Given the description of an element on the screen output the (x, y) to click on. 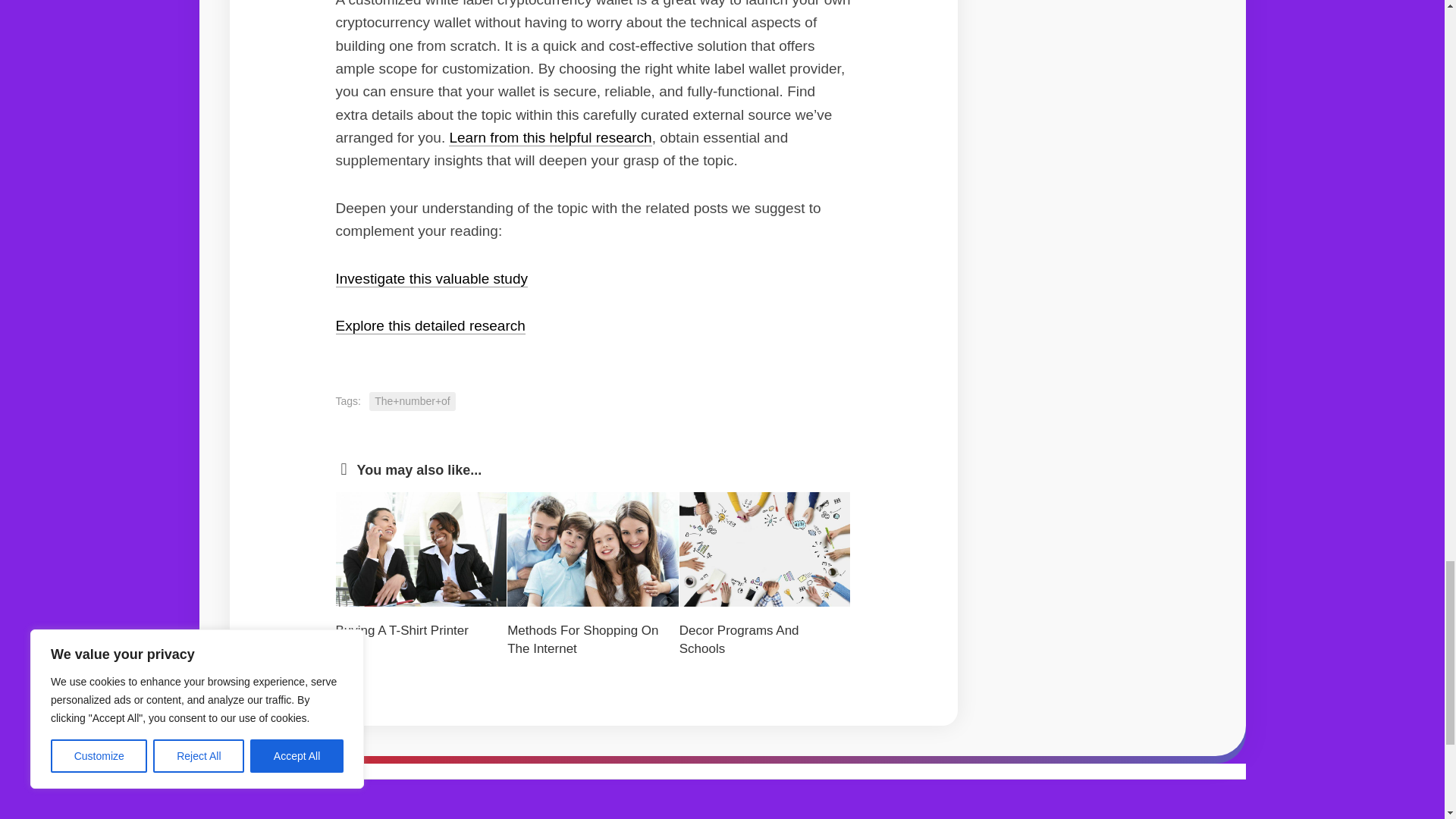
Methods For Shopping On The Internet (582, 639)
Explore this detailed research (429, 325)
Decor Programs And Schools (739, 639)
Buying A T-Shirt Printer (400, 630)
Investigate this valuable study (430, 278)
Learn from this helpful research (549, 137)
